Given the description of an element on the screen output the (x, y) to click on. 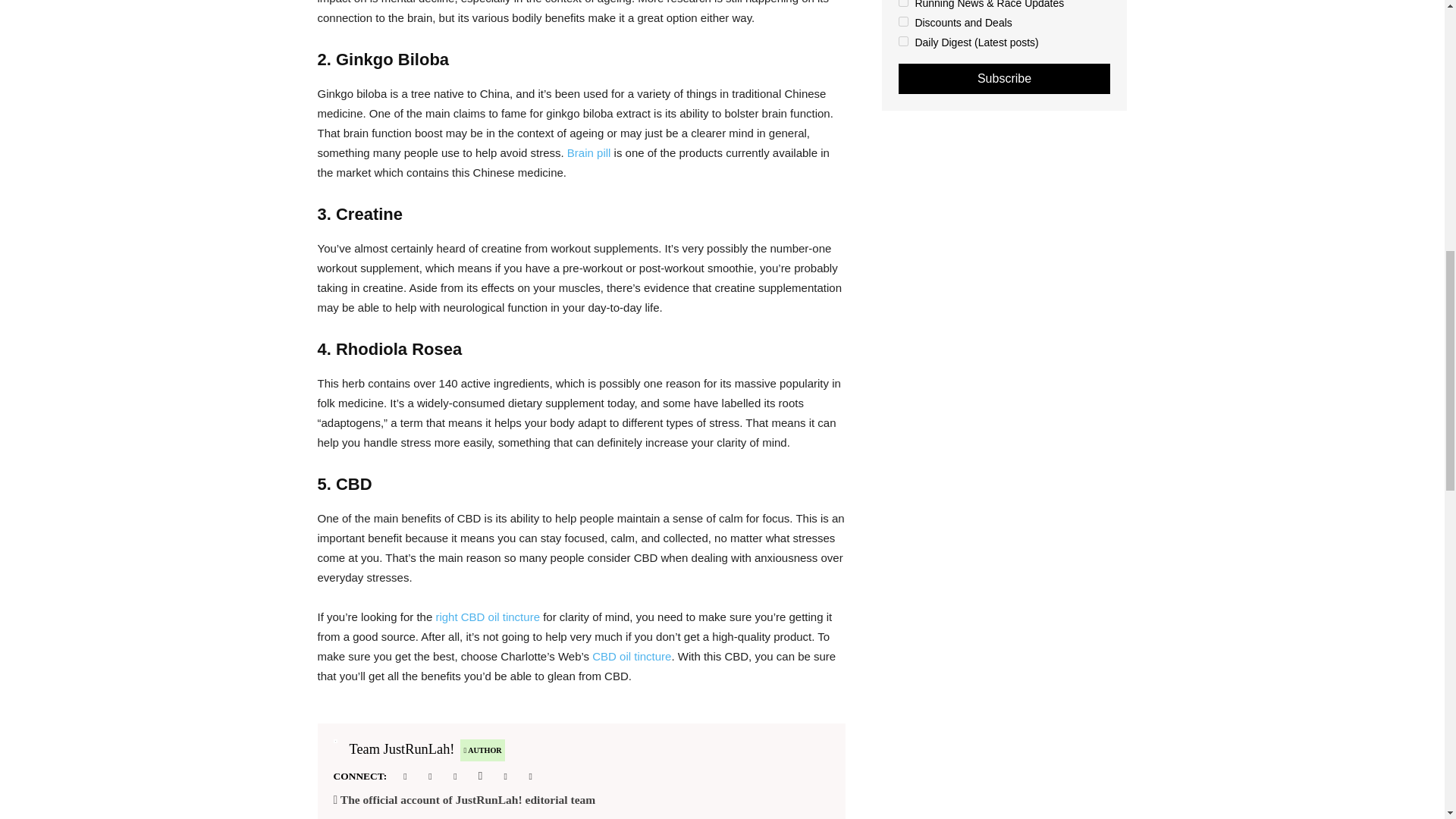
8671582 (902, 40)
8671580 (902, 21)
8671578 (902, 3)
